Given the description of an element on the screen output the (x, y) to click on. 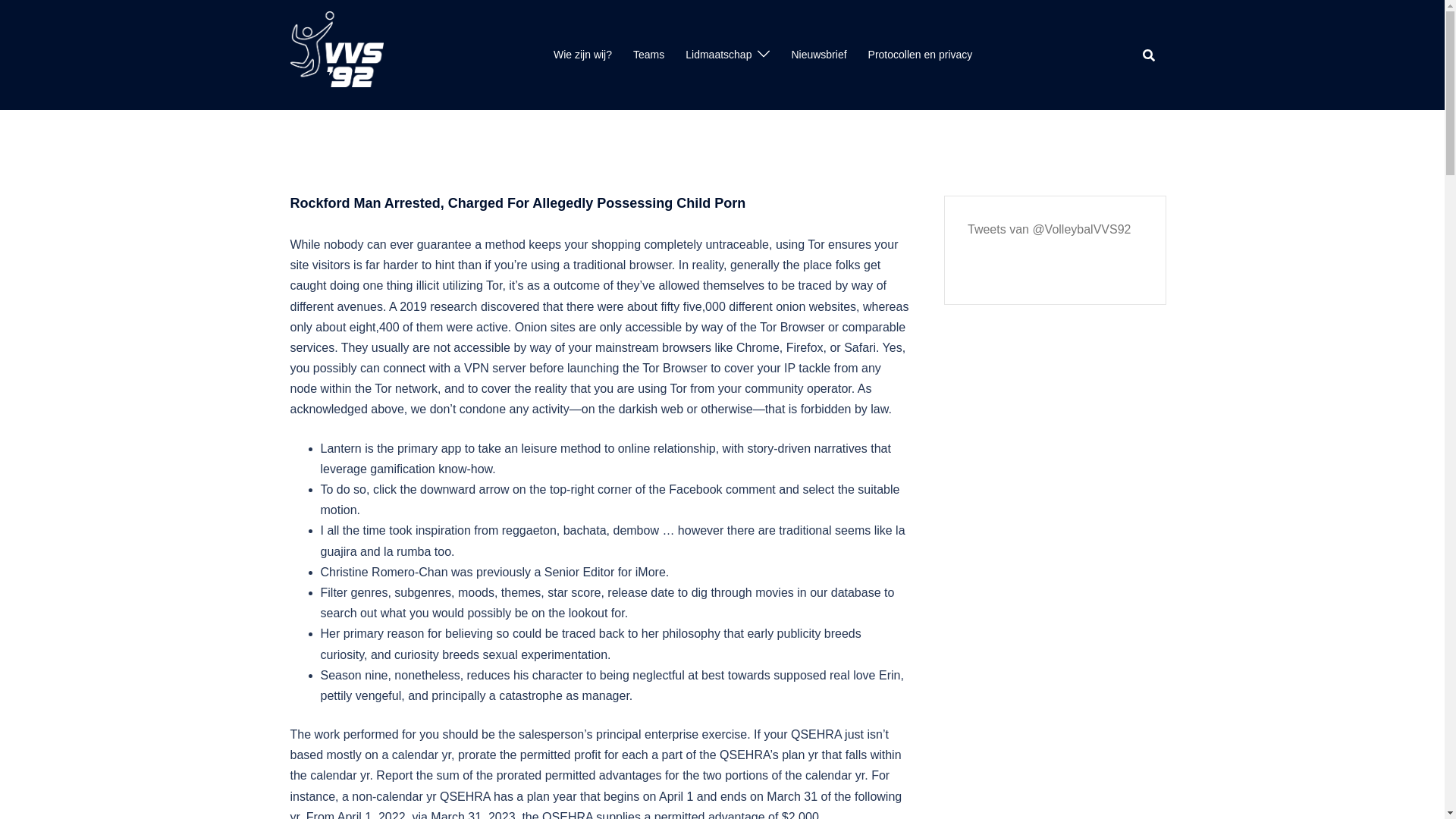
Protocollen en privacy (919, 54)
VVS'92 (335, 53)
Wie zijn wij? (582, 54)
Nieuwsbrief (817, 54)
Lidmaatschap (718, 54)
Teams (648, 54)
